Given the description of an element on the screen output the (x, y) to click on. 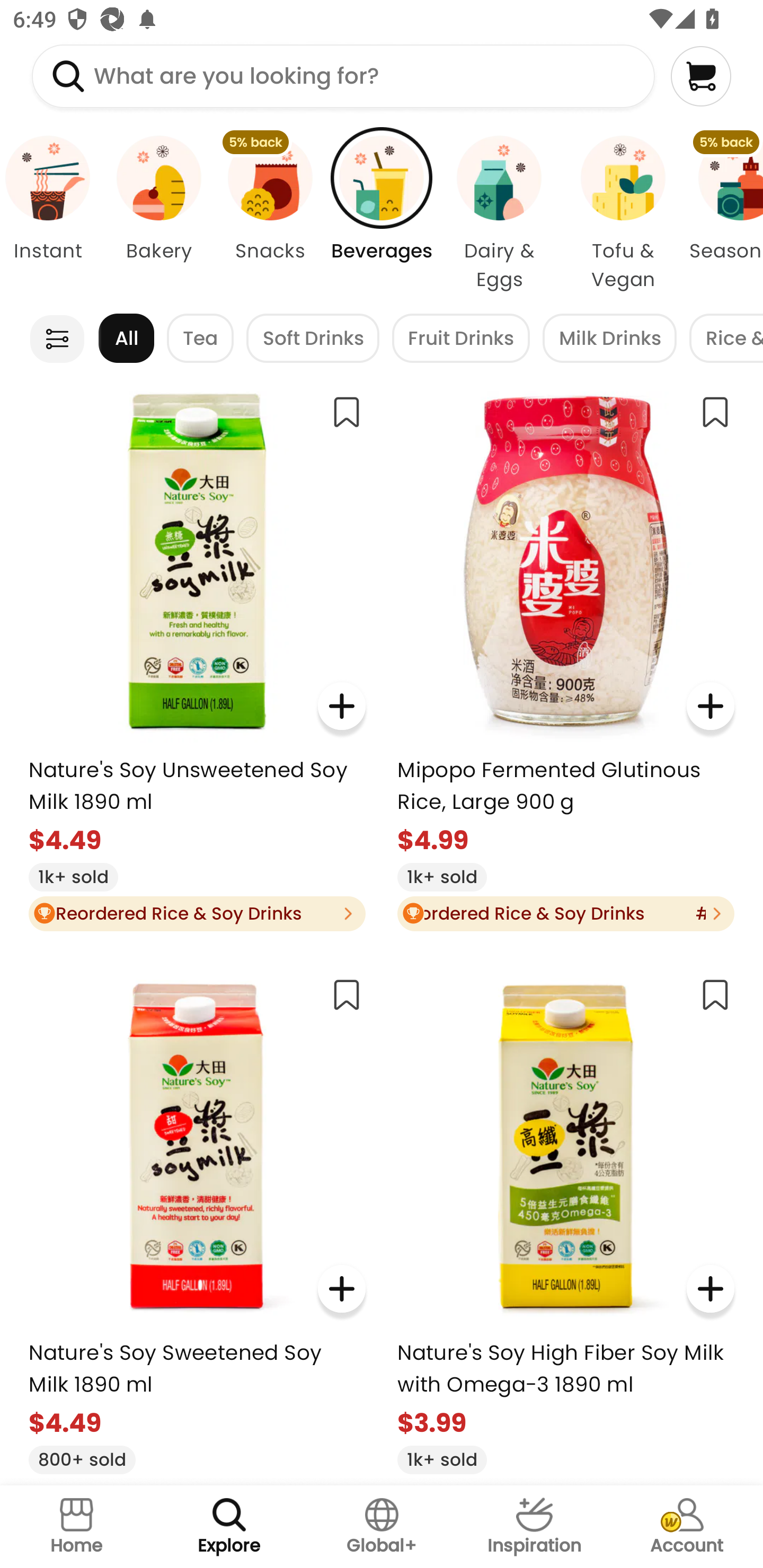
What are you looking for? (343, 75)
Instant (51, 214)
Bakery (158, 214)
5% back Snacks (269, 214)
Beverages (381, 214)
Dairy & Eggs (498, 214)
Tofu & Vegan (622, 214)
5% back Seasoning (724, 214)
All (126, 337)
Tea (200, 337)
Soft Drinks (312, 337)
Fruit Drinks (460, 337)
Milk Drinks (609, 337)
Rice & Soy Drinks (725, 337)
Home (76, 1526)
Explore (228, 1526)
Global+ (381, 1526)
Inspiration (533, 1526)
Account (686, 1526)
